Given the description of an element on the screen output the (x, y) to click on. 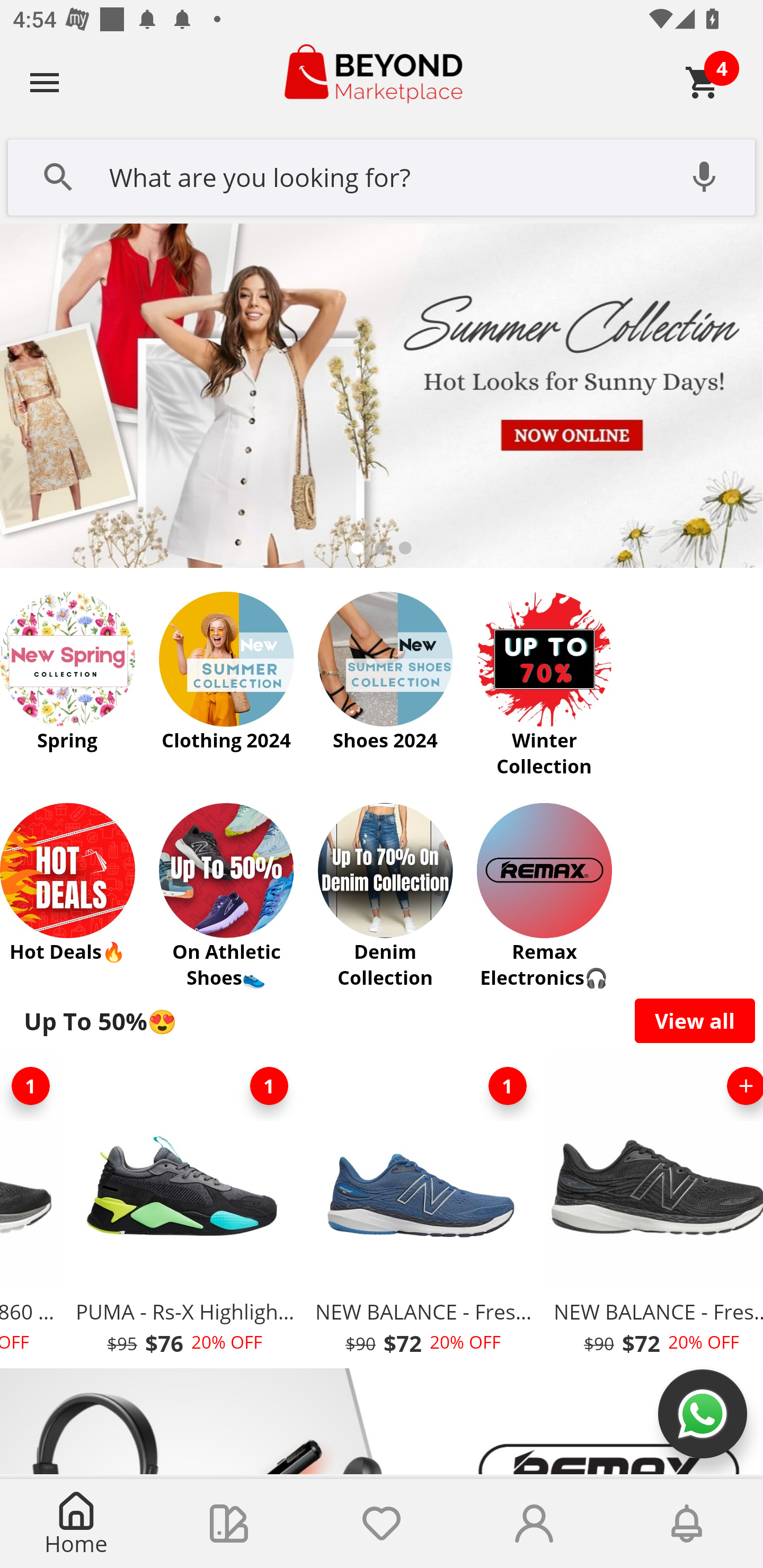
Navigate up (44, 82)
What are you looking for? (381, 175)
View all (694, 1020)
1 (32, 1085)
1 (269, 1085)
1 (507, 1085)
Collections (228, 1523)
Wishlist (381, 1523)
Account (533, 1523)
Notifications (686, 1523)
